Given the description of an element on the screen output the (x, y) to click on. 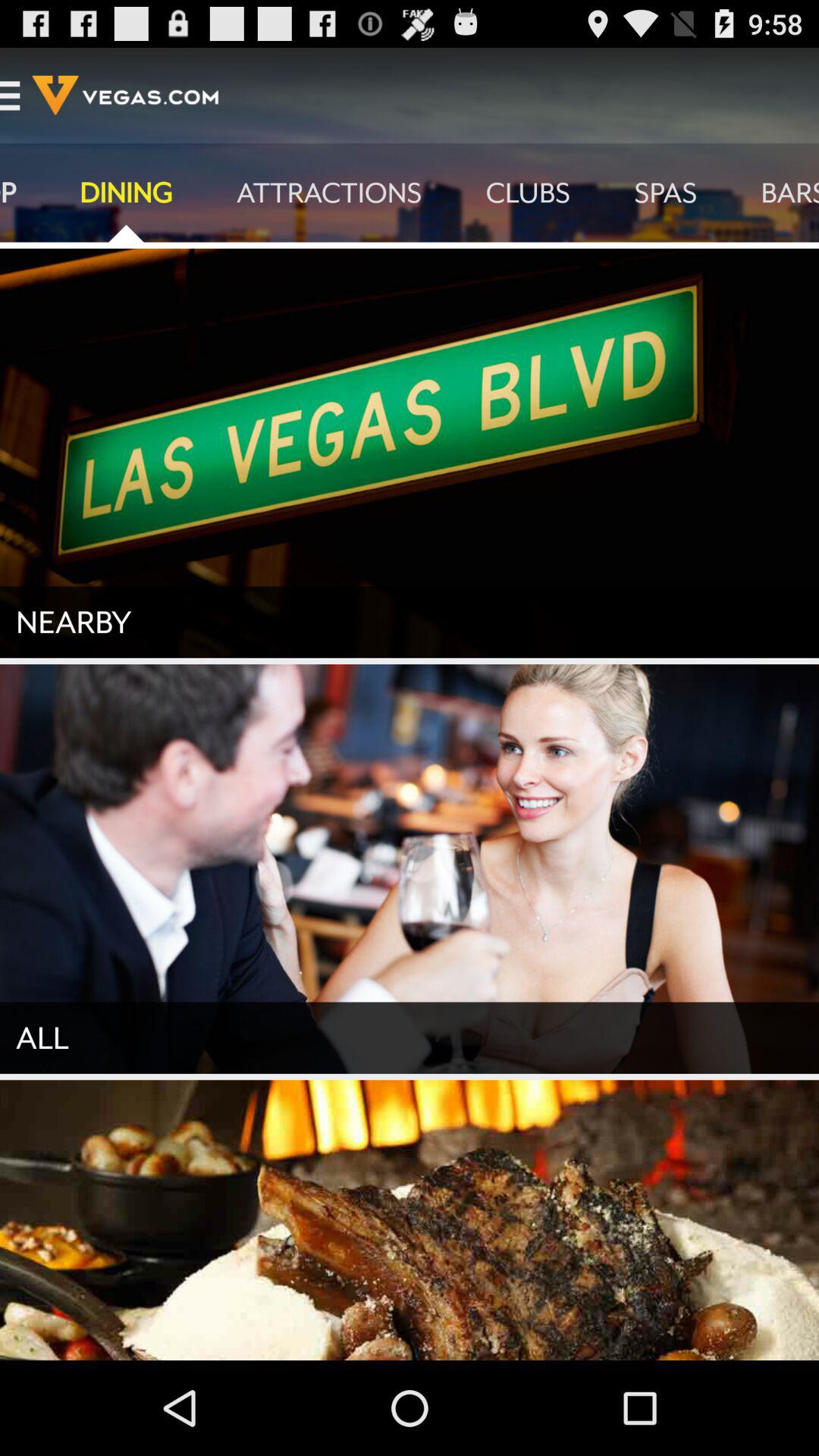
click on attractions (329, 192)
click on the text vegascom (125, 95)
